Given the description of an element on the screen output the (x, y) to click on. 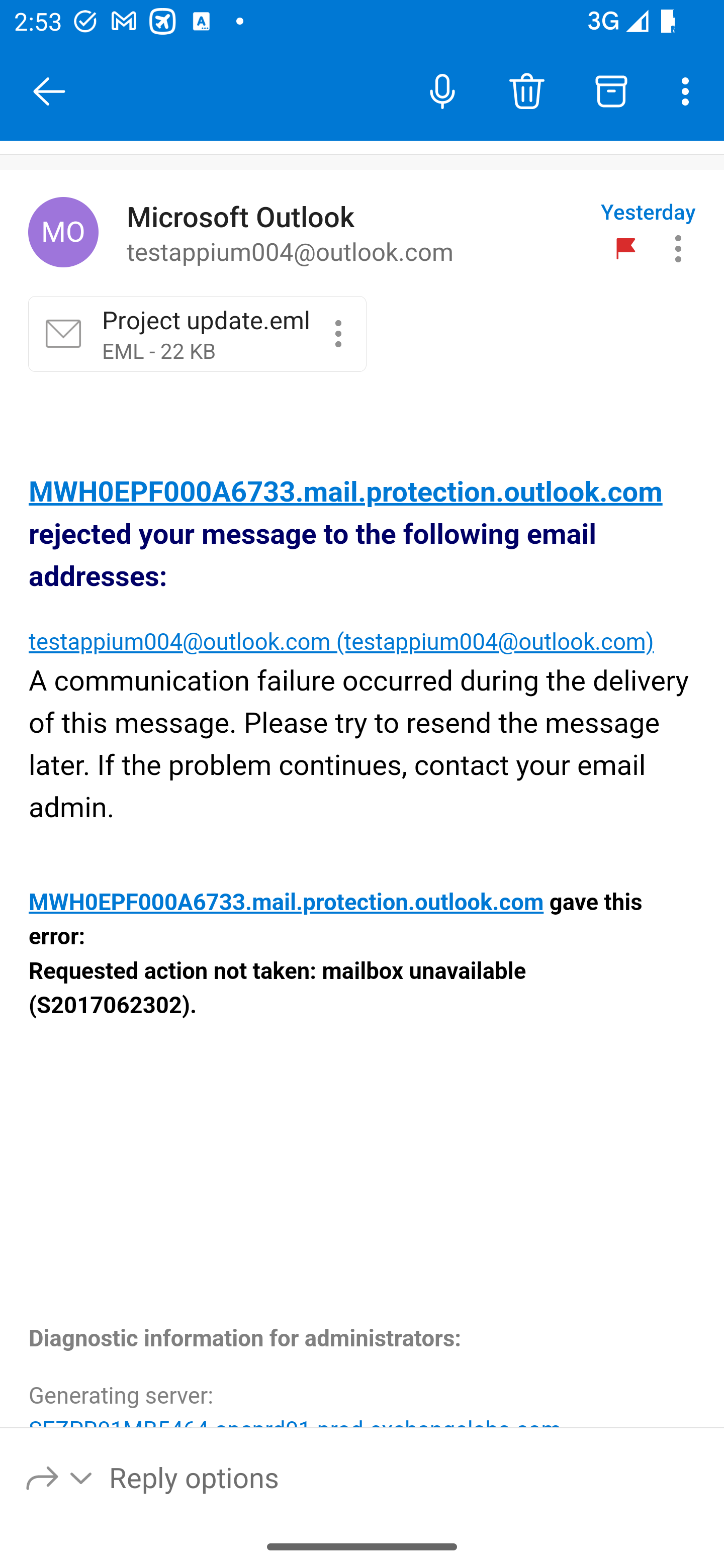
Close (49, 91)
Delete (526, 90)
Archive (611, 90)
More options (688, 90)
Microsoft Outlook
to testappium004@outlook.com (356, 232)
Message actions (678, 248)
Project update.eml (338, 333)
MWH0EPF000A6733.mail.protection.outlook.com (345, 492)
MWH0EPF000A6733.mail.protection.outlook.com (285, 903)
Reply options (59, 1476)
